Given the description of an element on the screen output the (x, y) to click on. 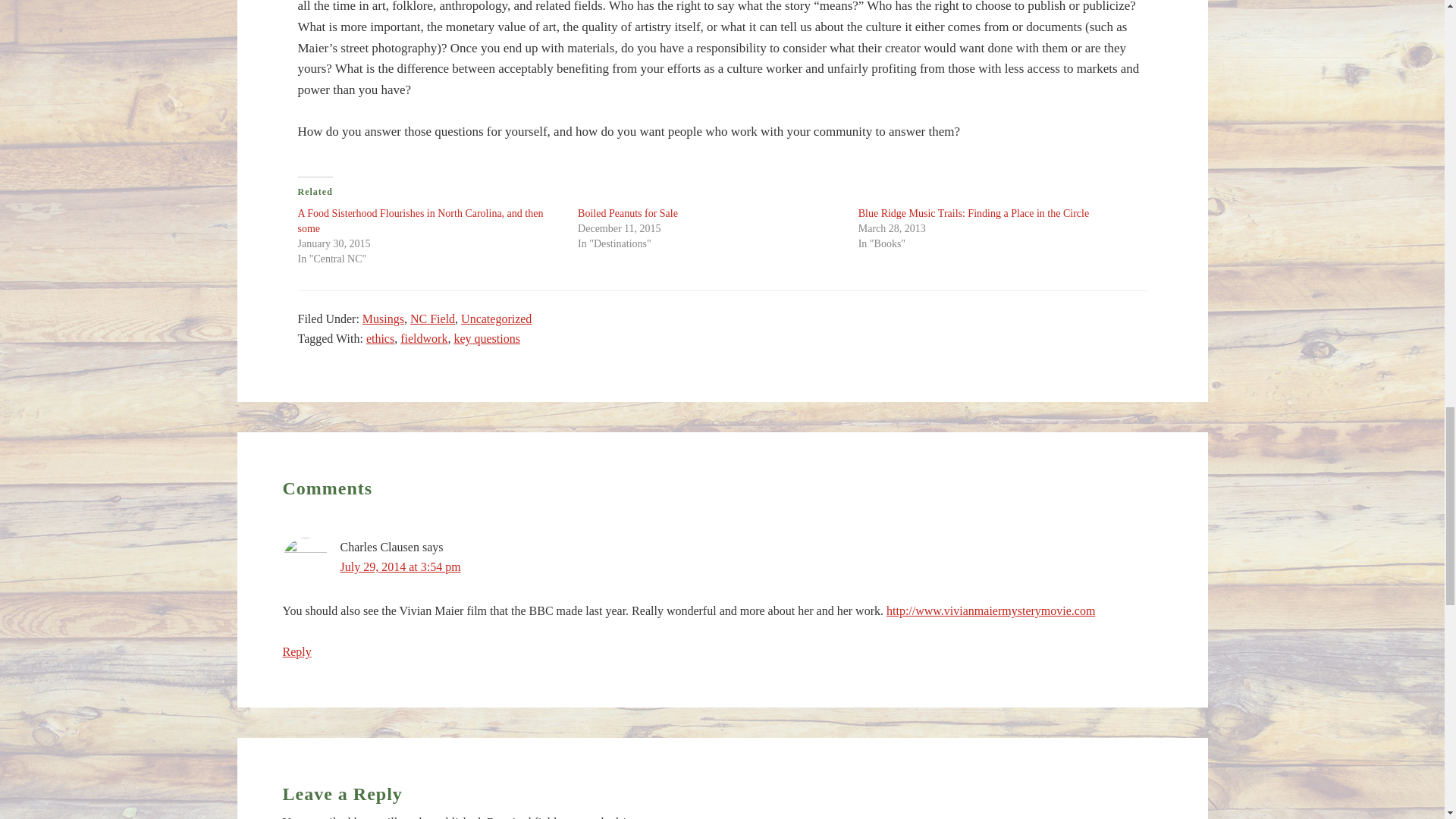
Blue Ridge Music Trails: Finding a Place in the Circle (974, 213)
Boiled Peanuts for Sale (628, 213)
